Given the description of an element on the screen output the (x, y) to click on. 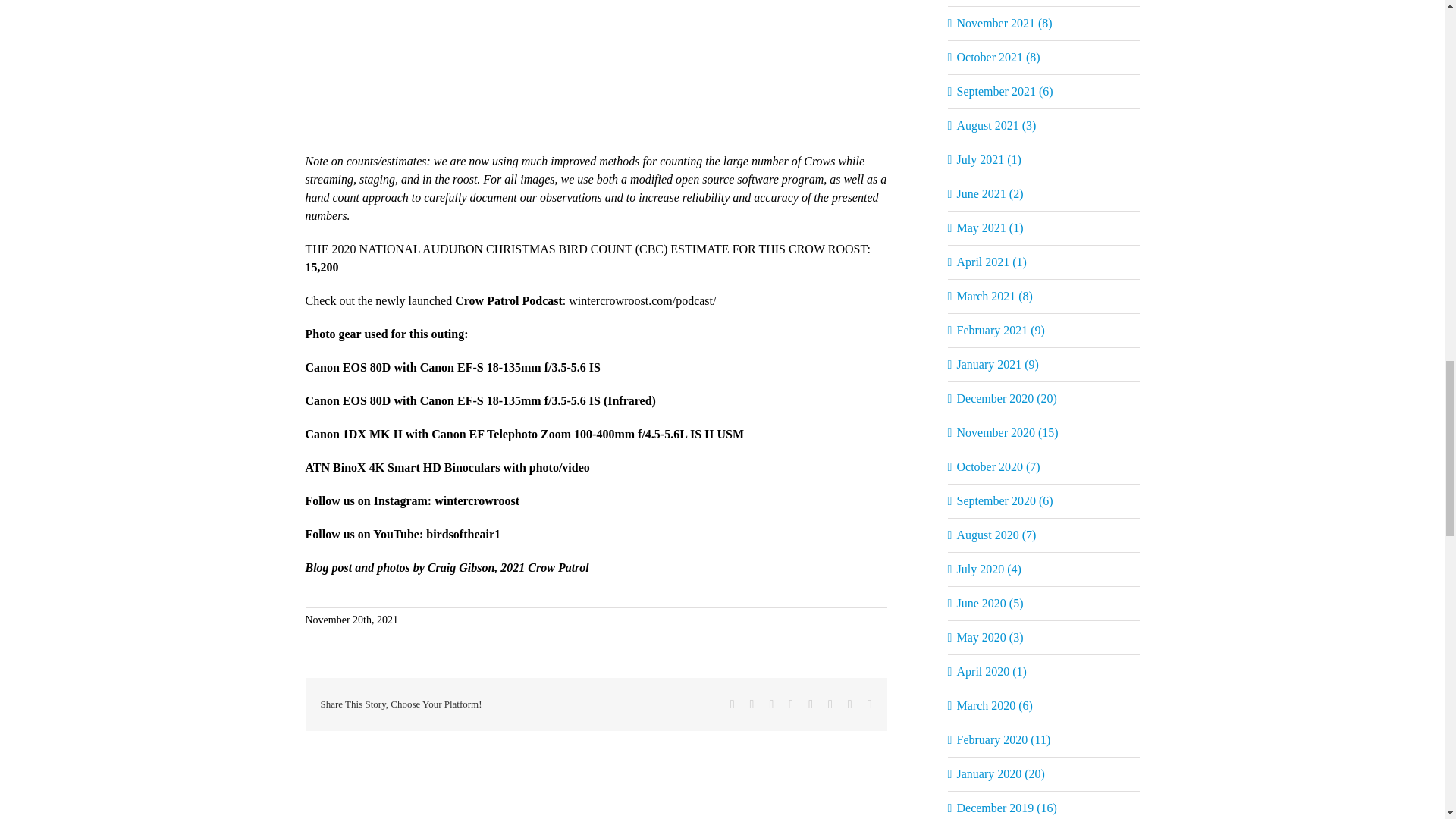
Vk (849, 704)
Reddit (770, 704)
Email (869, 704)
Pinterest (830, 704)
Tumblr (810, 704)
Facebook (732, 704)
LinkedIn (791, 704)
Twitter (751, 704)
